Given the description of an element on the screen output the (x, y) to click on. 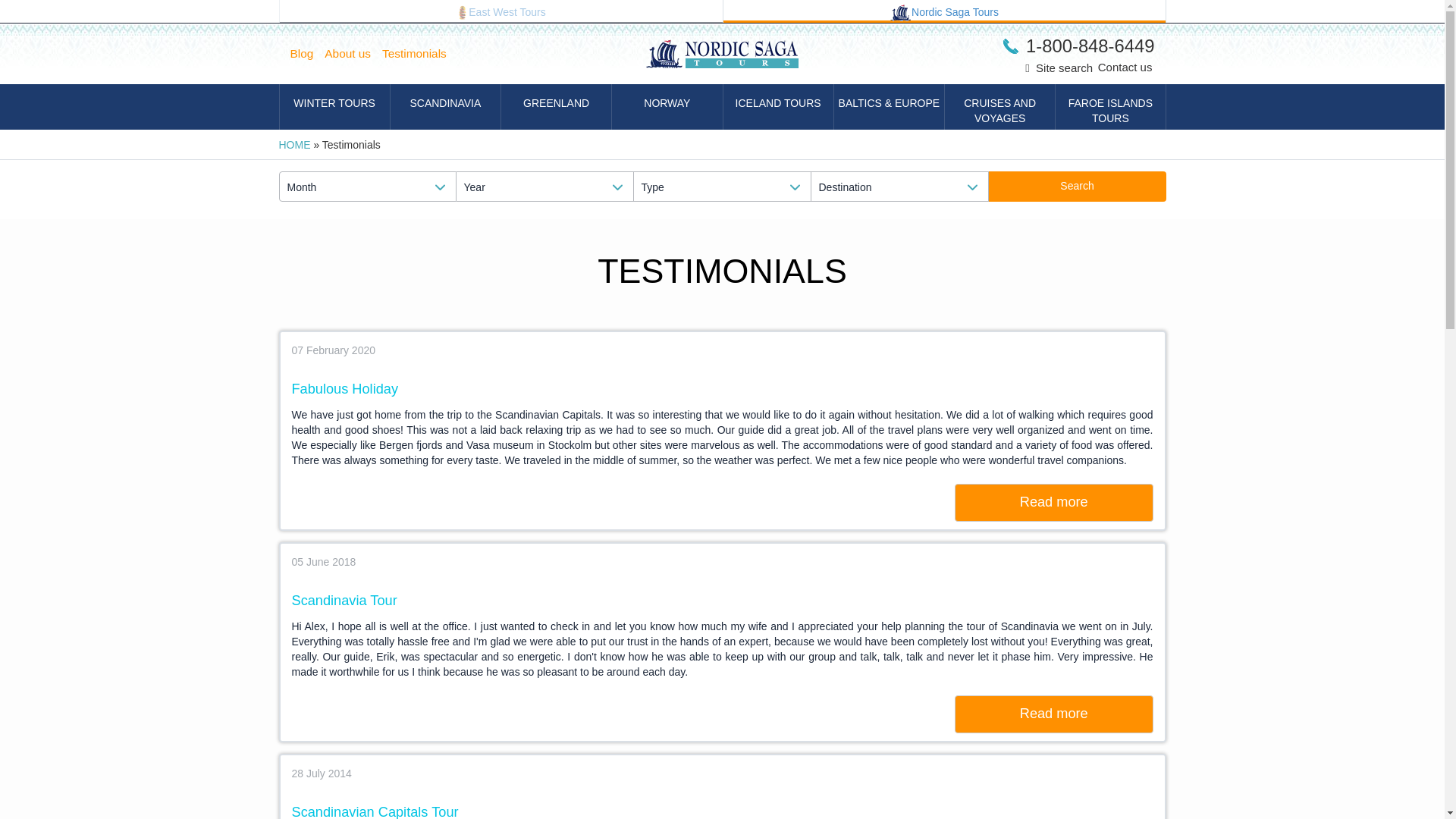
Testimonials (419, 53)
Nordic Saga Tours (944, 11)
Blog (306, 53)
East West Tours (500, 11)
About us (352, 53)
scandinavian tours (900, 13)
1-800-848-6449 (1078, 46)
WINTER TOURS (333, 106)
FAROE ISLANDS (1109, 106)
Contact us (1125, 66)
NORDICSAGA.COM (944, 11)
HOME (295, 144)
